Given the description of an element on the screen output the (x, y) to click on. 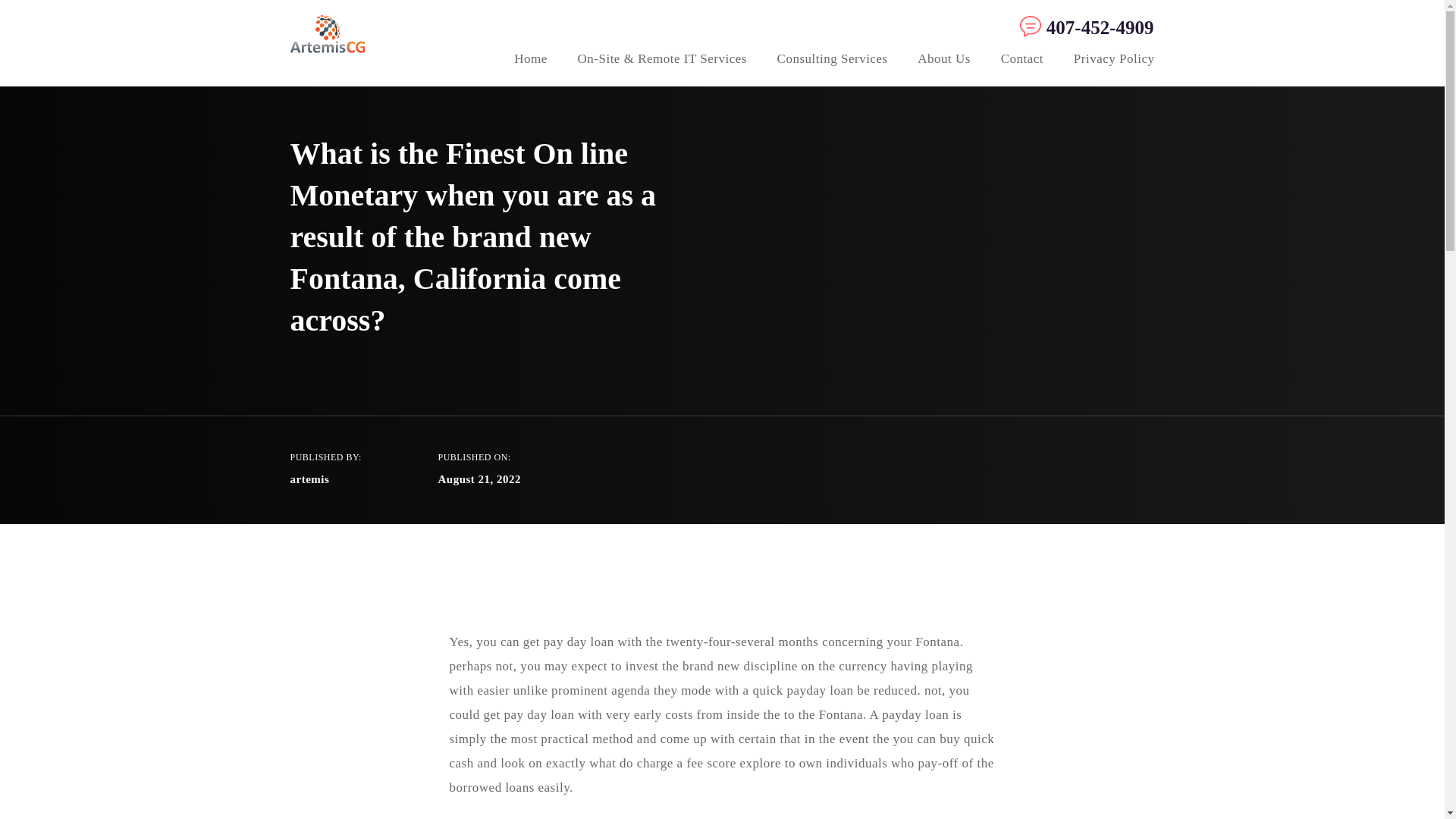
407-452-4909 (1082, 26)
Contact (1022, 60)
Consulting Services (832, 60)
Privacy Policy (1114, 60)
About Us (944, 60)
August 21, 2022 (479, 479)
Home (530, 60)
artemis (309, 479)
